Given the description of an element on the screen output the (x, y) to click on. 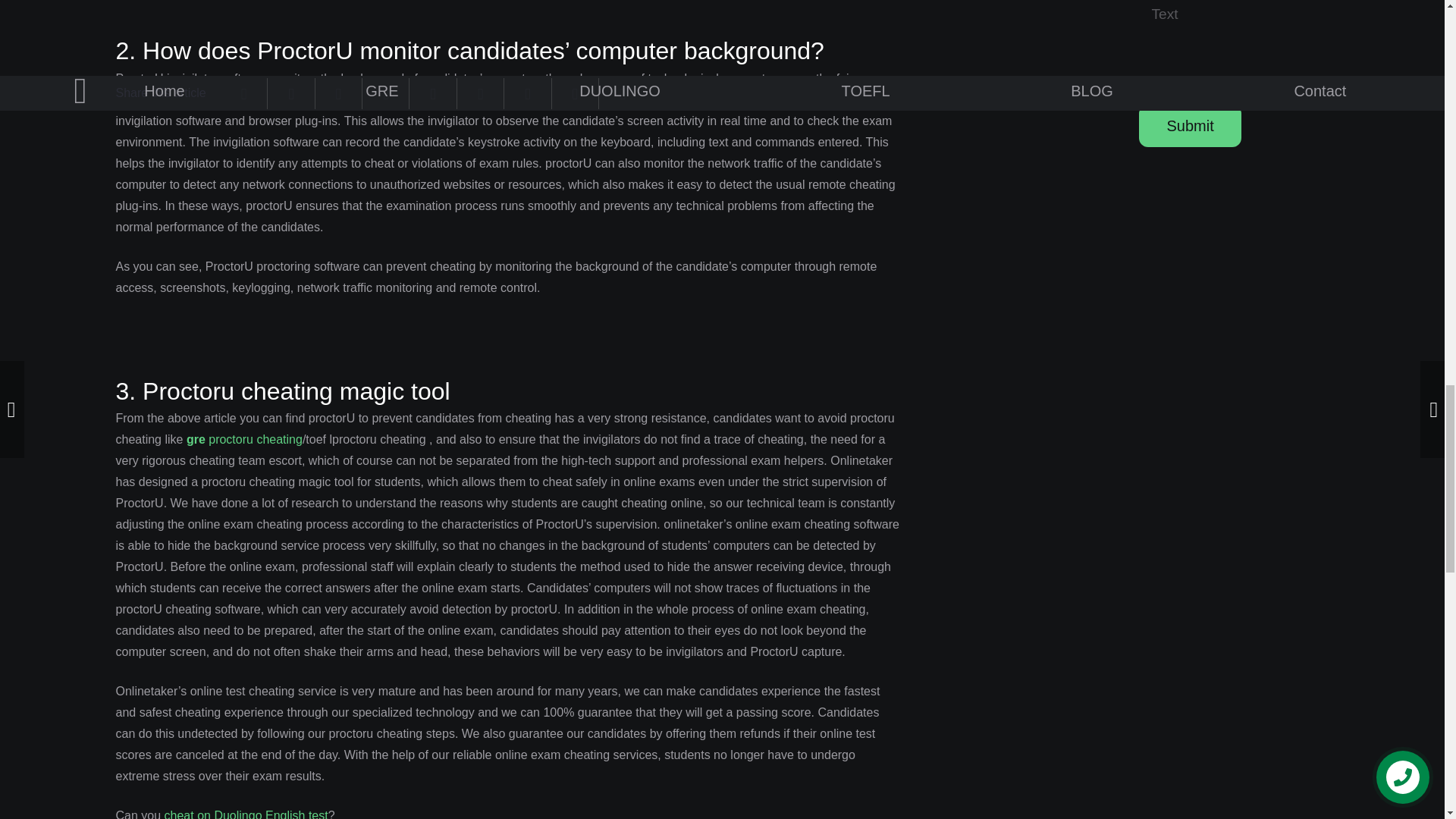
gre proctoru cheating (244, 439)
Submit (1189, 125)
cheat on Duolingo English test (246, 814)
